Given the description of an element on the screen output the (x, y) to click on. 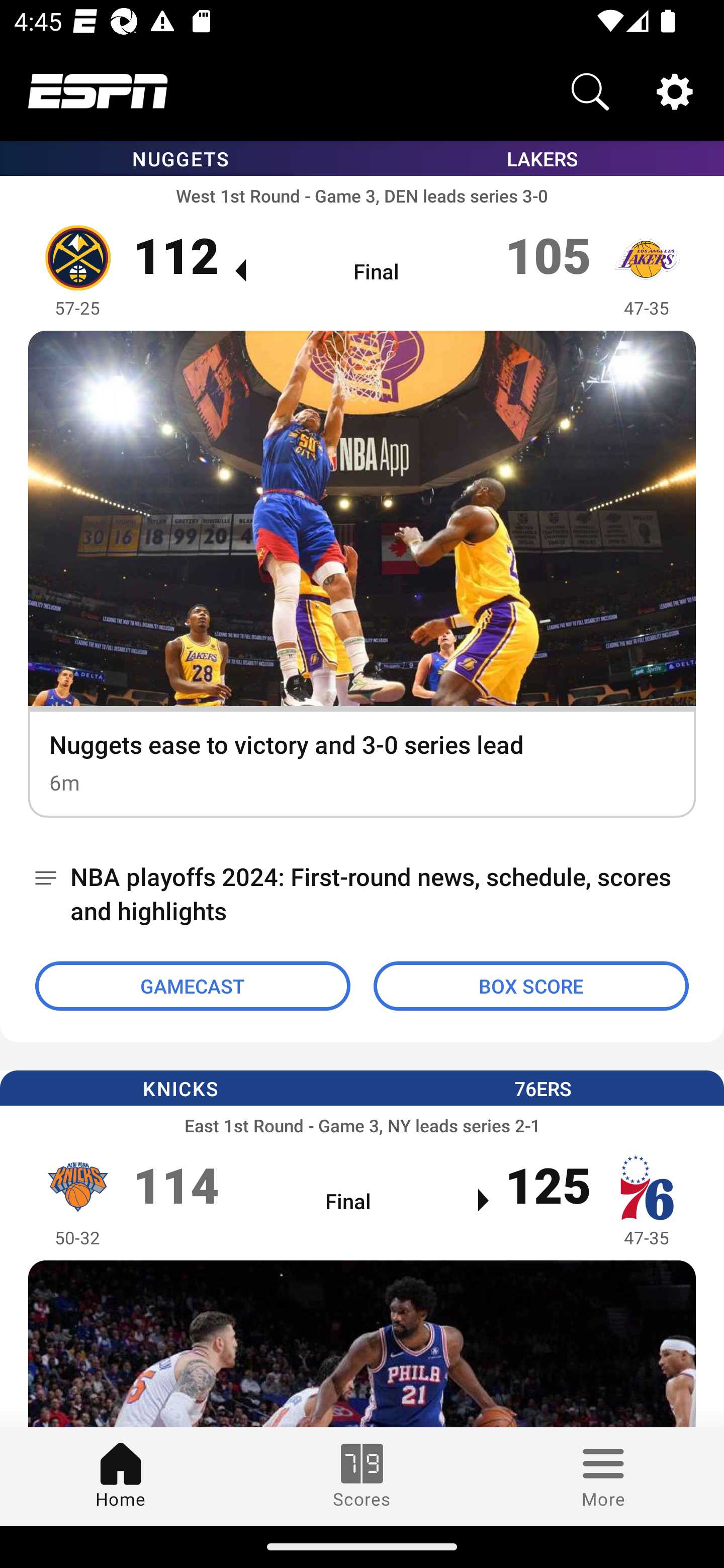
Search (590, 90)
Settings (674, 90)
Nuggets ease to victory and 3-0 series lead 6m (361, 573)
GAMECAST (192, 986)
BOX SCORE (530, 986)
Scores (361, 1475)
More (603, 1475)
